Given the description of an element on the screen output the (x, y) to click on. 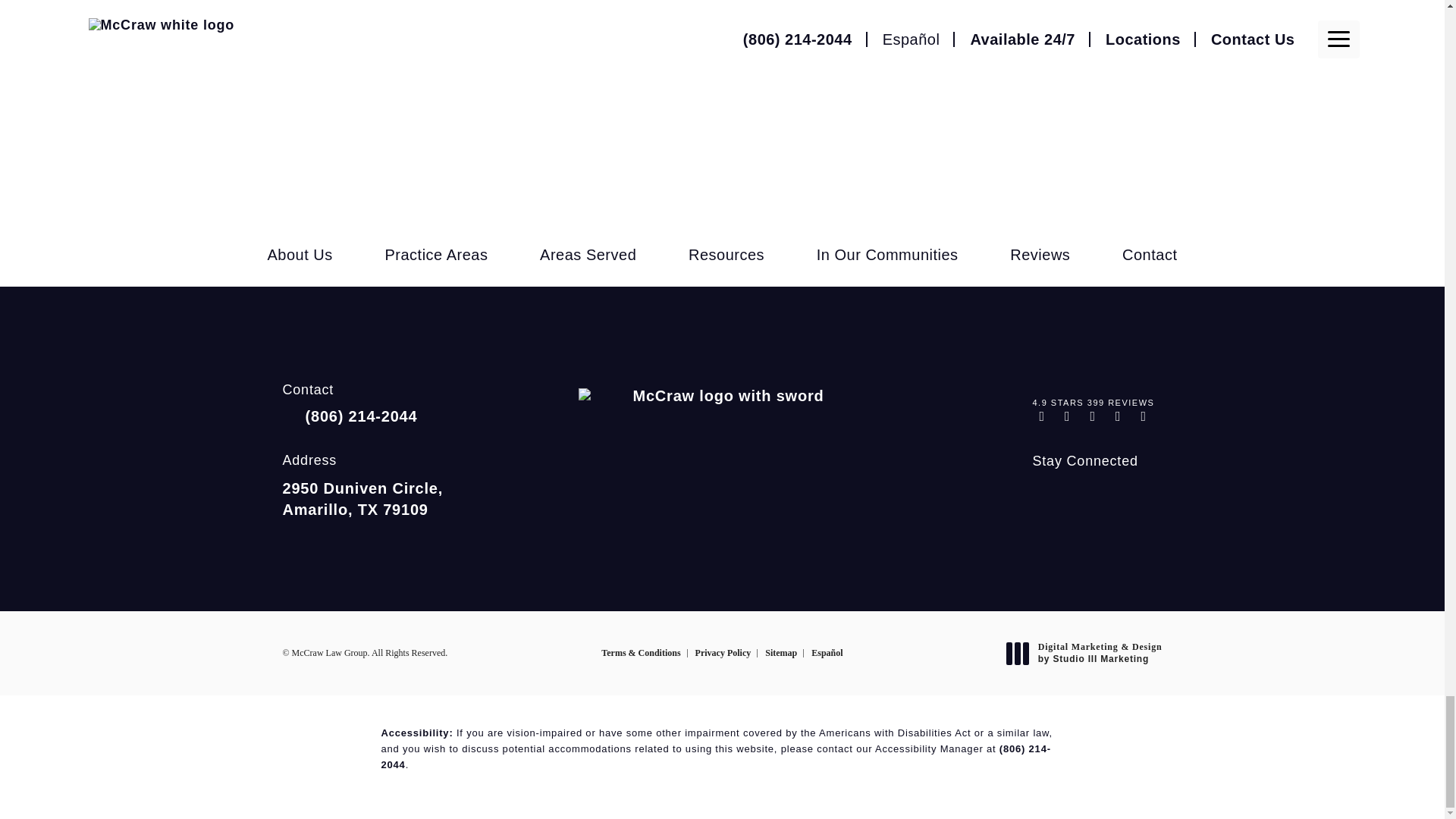
McCraw Law Group on Instagram (1042, 492)
